Given the description of an element on the screen output the (x, y) to click on. 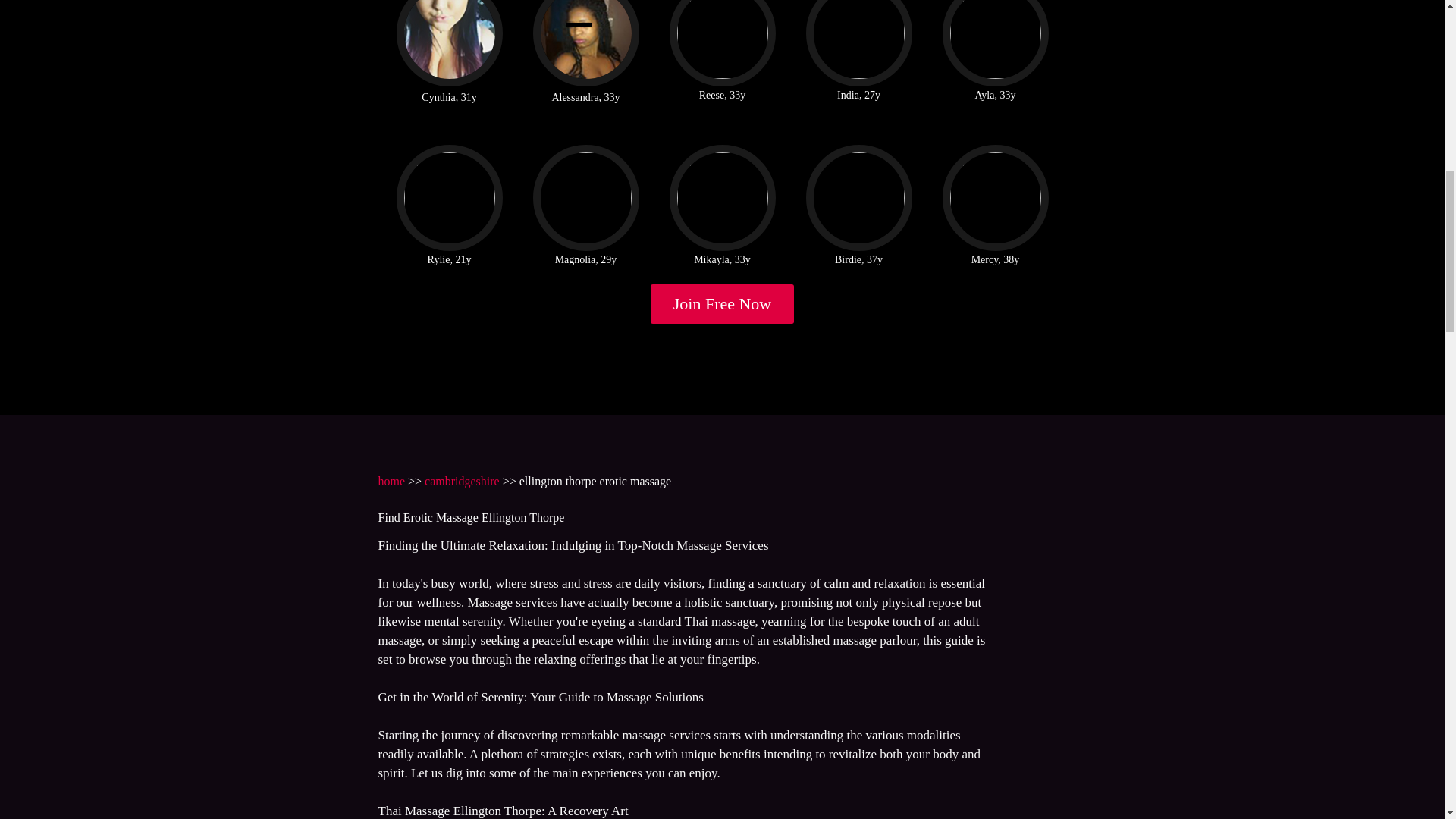
Join Free Now (722, 303)
cambridgeshire (462, 481)
Join (722, 303)
home (390, 481)
